Given the description of an element on the screen output the (x, y) to click on. 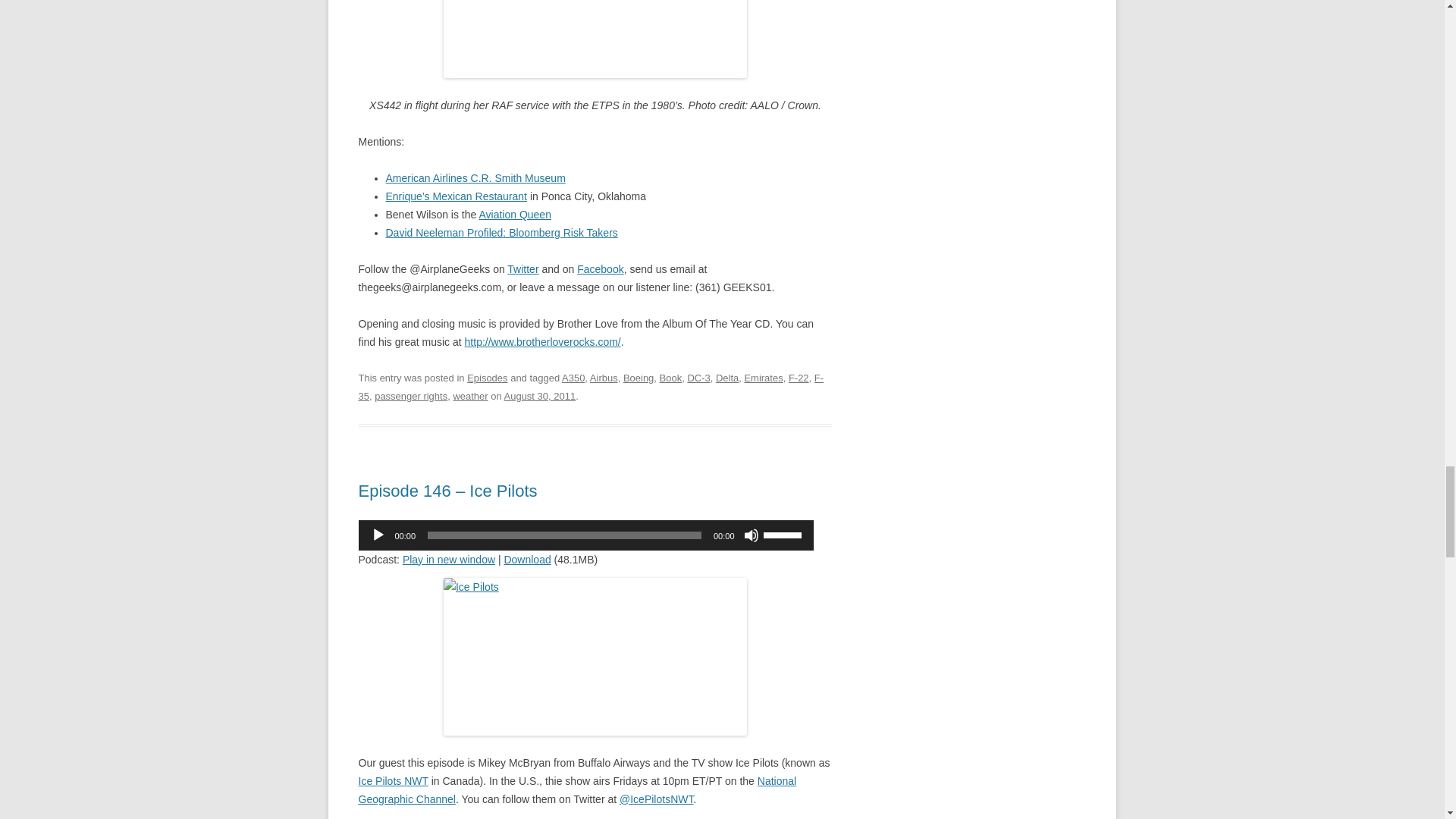
Play (377, 534)
6:06 pm (539, 396)
